Given the description of an element on the screen output the (x, y) to click on. 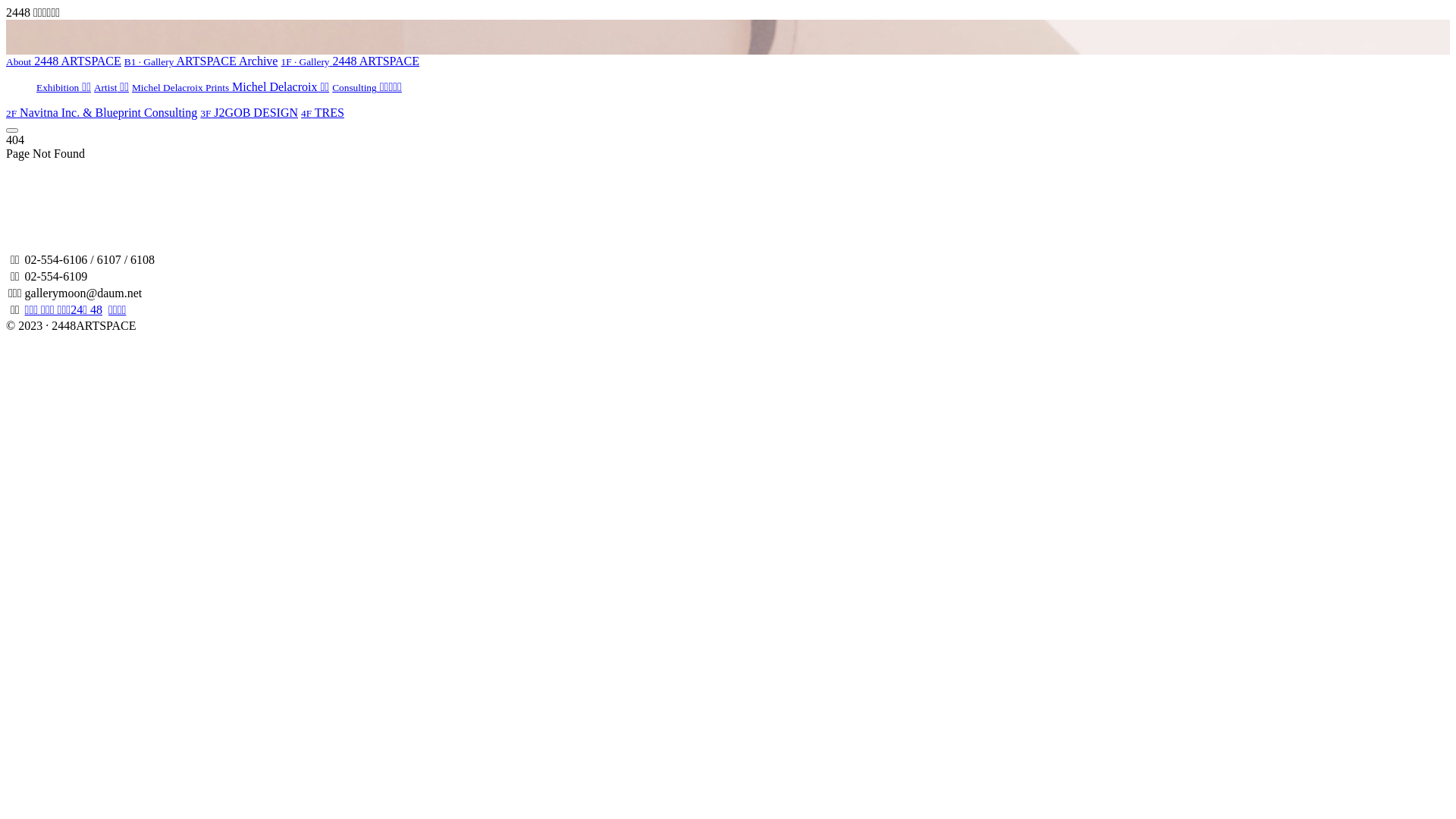
About 2448 ARTSPACE Element type: text (63, 60)
3F J2GOB DESIGN Element type: text (249, 112)
4F TRES Element type: text (322, 112)
2F Navitna Inc. & Blueprint Consulting Element type: text (101, 112)
